Given the description of an element on the screen output the (x, y) to click on. 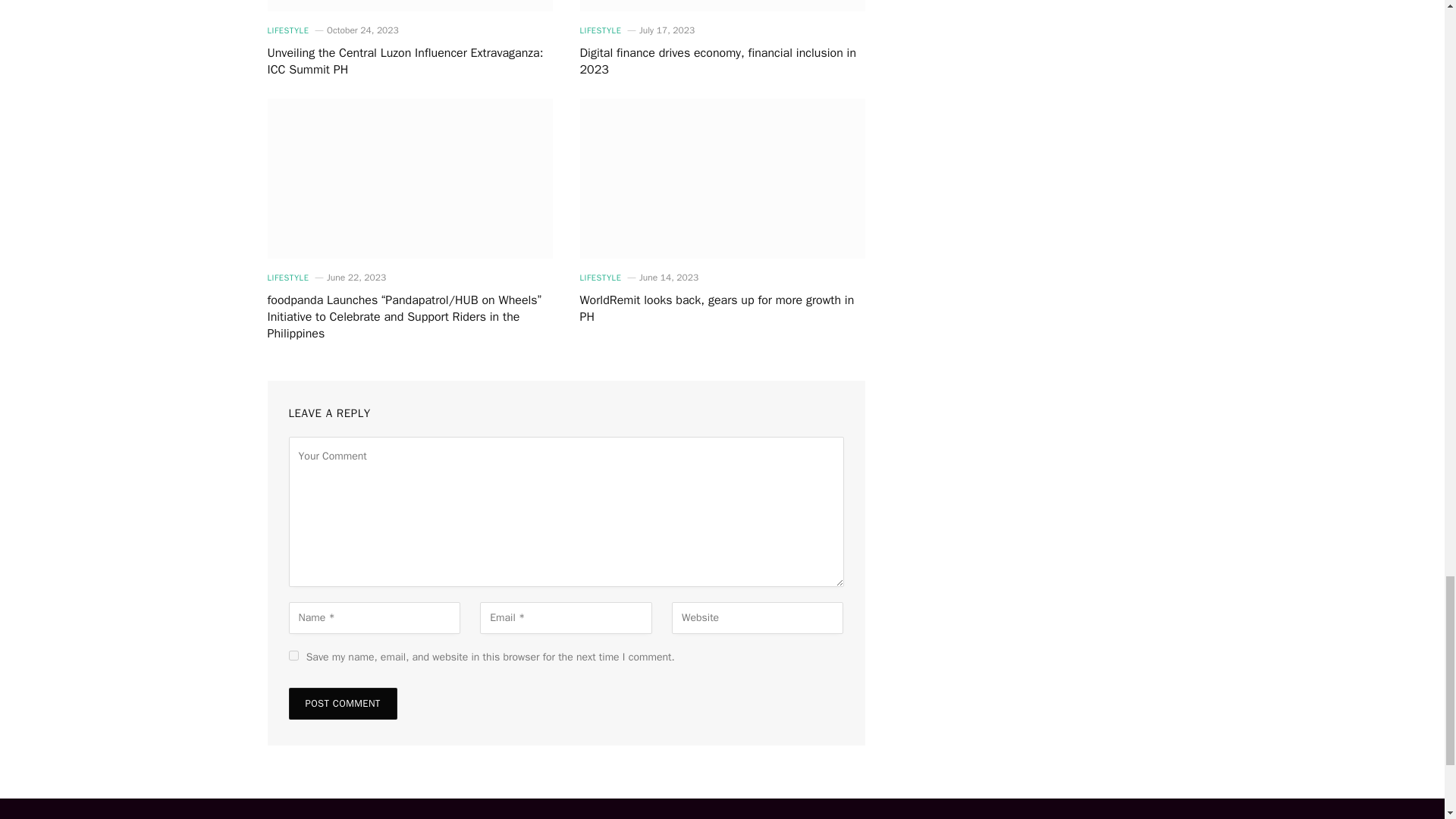
Post Comment (342, 703)
yes (293, 655)
